Given the description of an element on the screen output the (x, y) to click on. 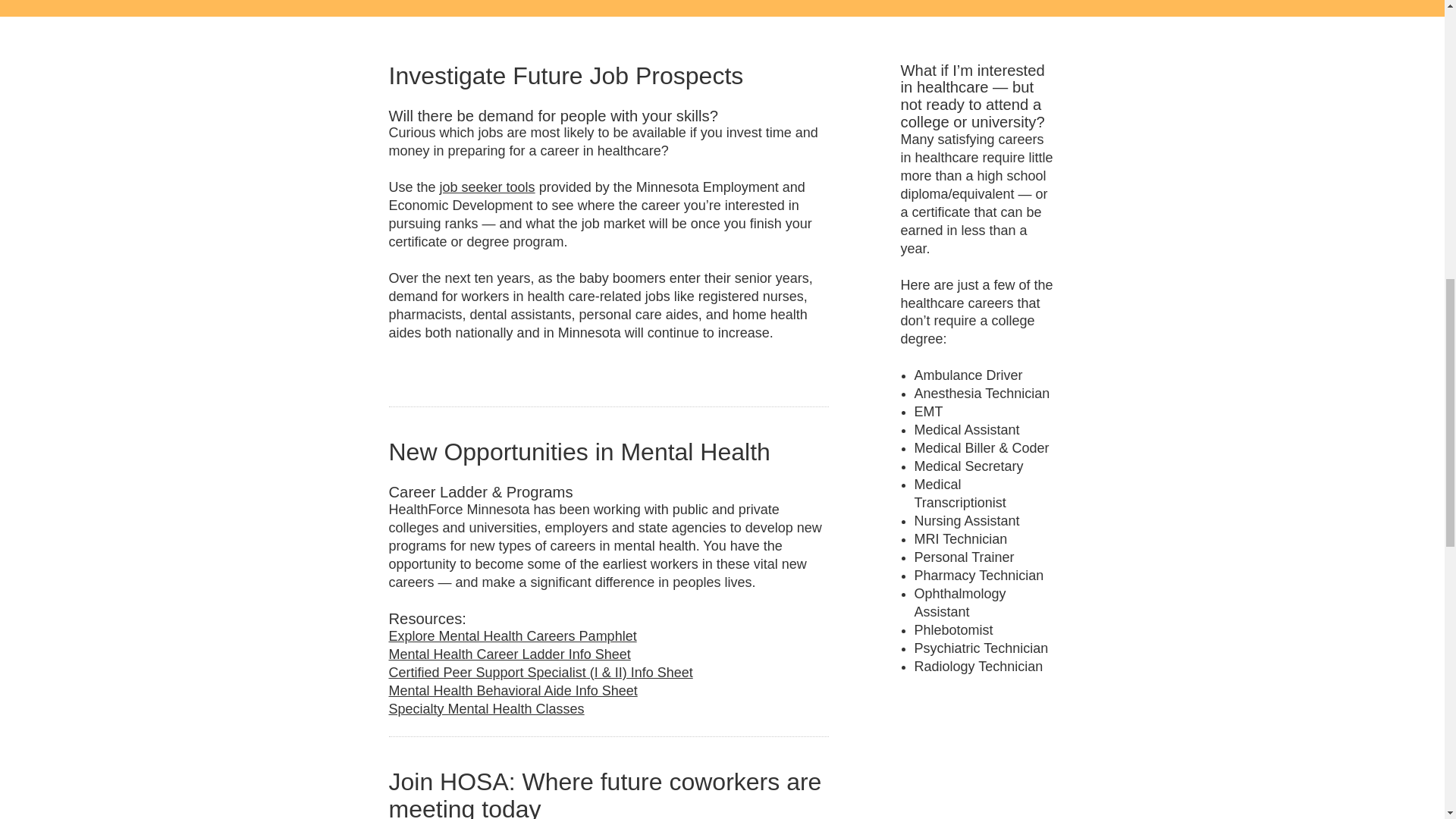
Explore Mental Health Careers Pamphlet (512, 635)
Specialty Mental Health Classes (485, 708)
Mental Health Career Ladder Info Sheet (509, 654)
Mental Health Behavioral Aide Info Sheet (512, 690)
job seeker tools (487, 186)
